Given the description of an element on the screen output the (x, y) to click on. 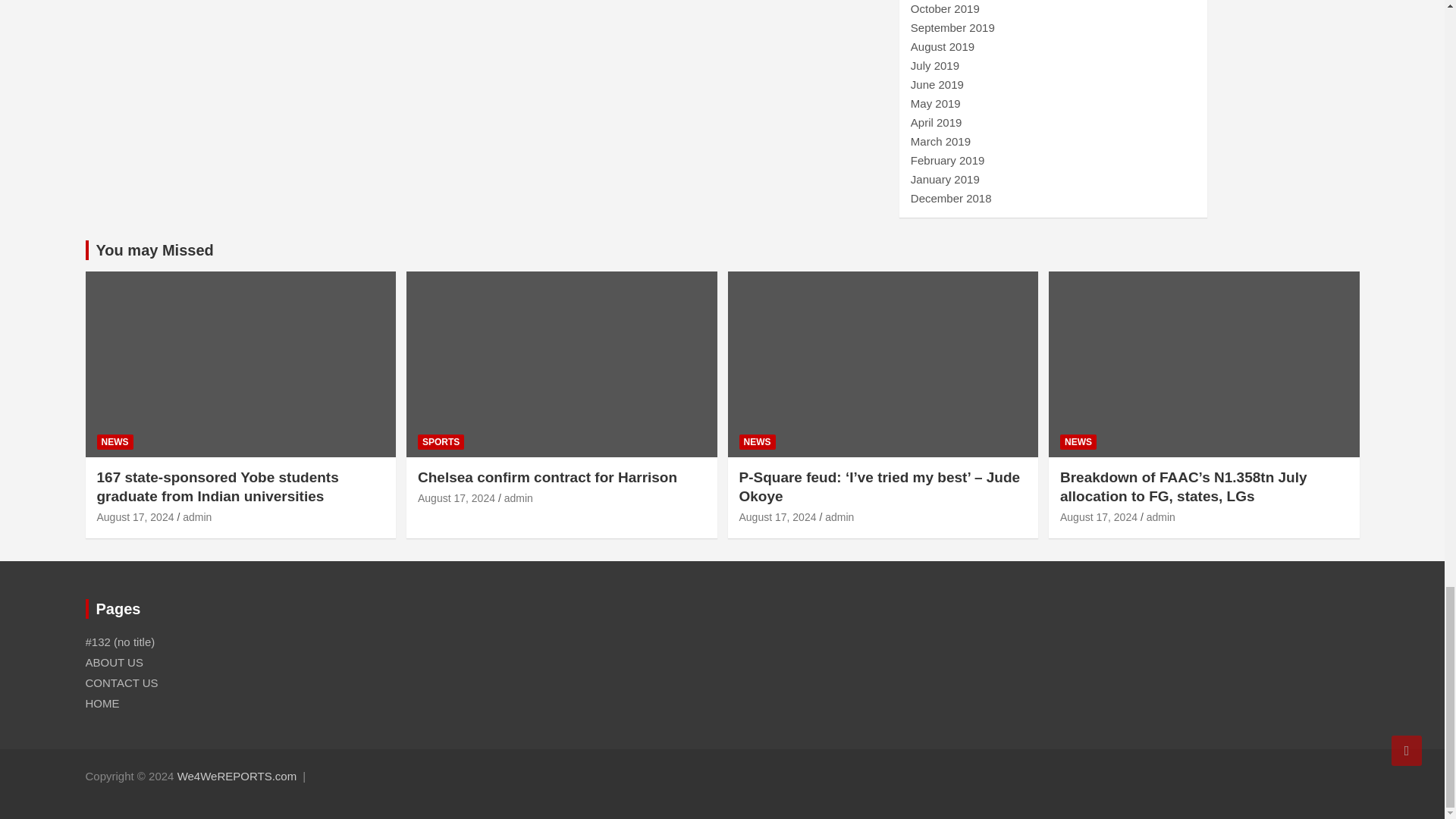
Chelsea confirm contract for Harrison (456, 498)
We4WeREPORTS.com (237, 775)
